Given the description of an element on the screen output the (x, y) to click on. 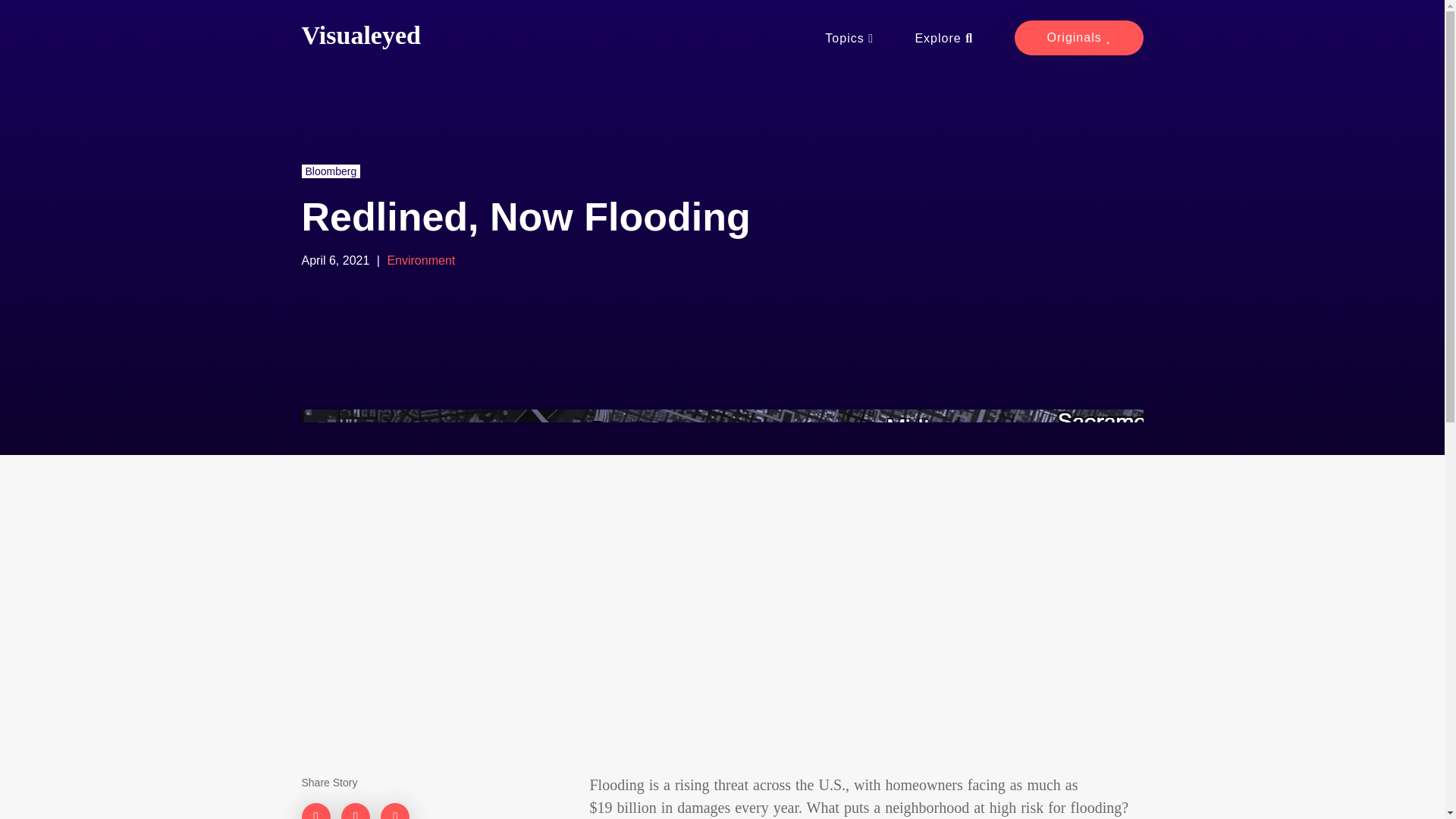
Environment (420, 259)
Explore (943, 38)
Originals (829, 37)
Topics (1078, 37)
Visualeyed (849, 38)
